Given the description of an element on the screen output the (x, y) to click on. 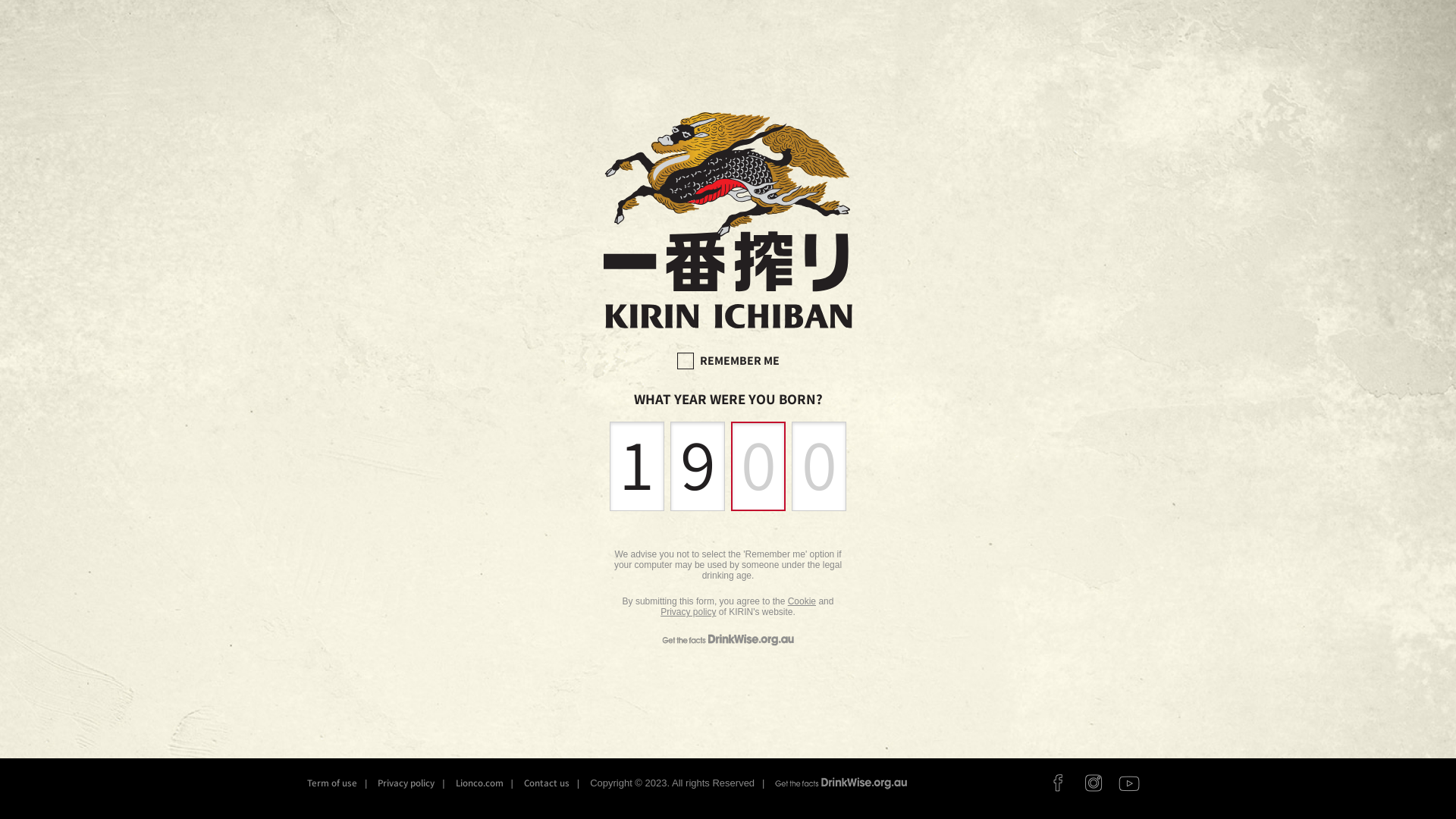
Term of use Element type: text (332, 782)
Lionco.com Element type: text (479, 782)
Privacy policy Element type: text (687, 611)
Privacy policy Element type: text (405, 782)
Contact us Element type: text (546, 782)
Cookie Element type: text (801, 601)
